Given the description of an element on the screen output the (x, y) to click on. 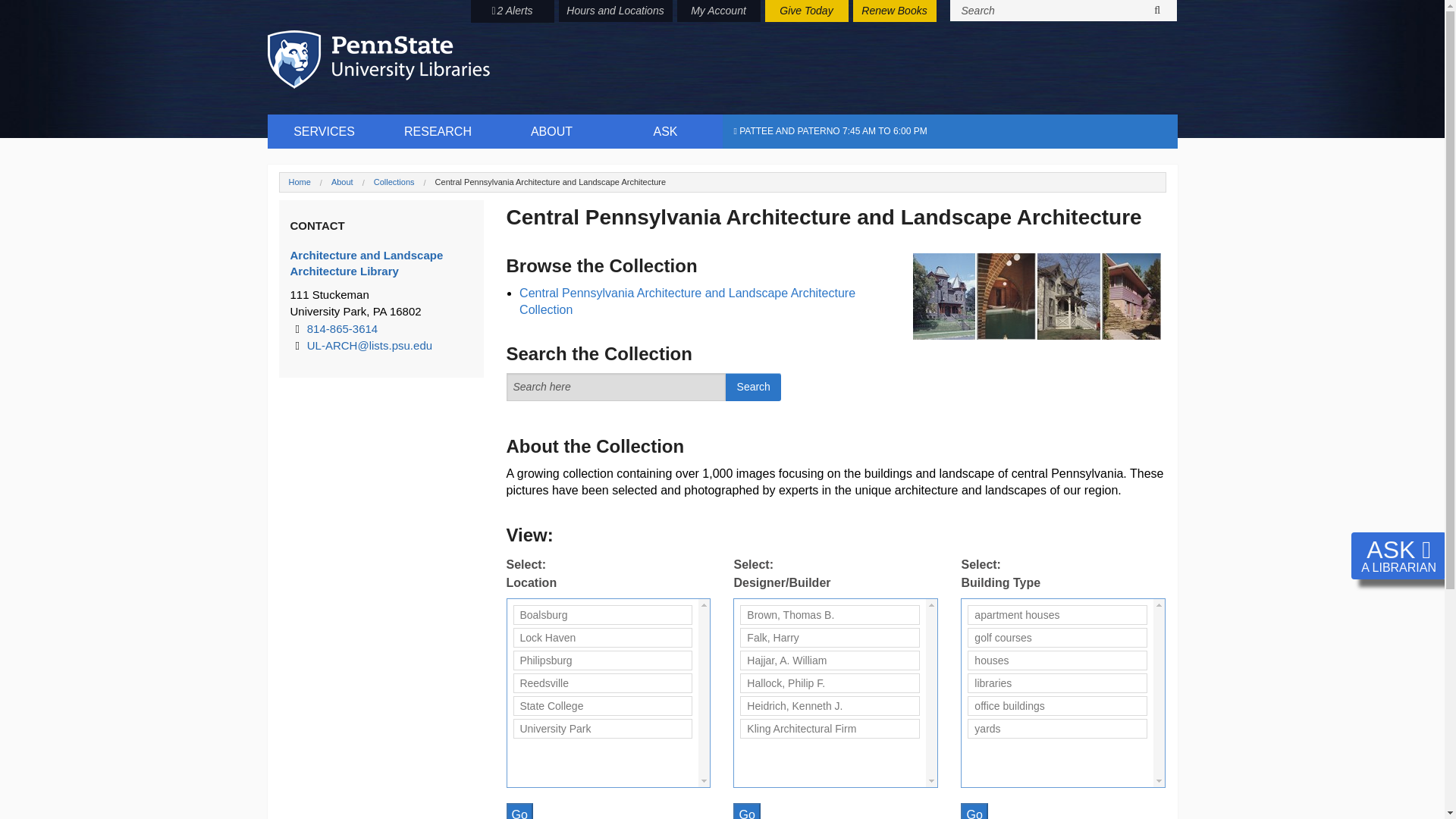
Renew Books (893, 11)
My Account (718, 11)
Central Pennsylvania Architecture and Landscape Architecture (550, 181)
814-865-3614 (342, 328)
ASK (665, 131)
Give Today (805, 11)
Search (752, 387)
Penn State University Libraries (377, 59)
enter search terms (616, 387)
Go (973, 811)
Submit (1157, 10)
Home (299, 181)
PATTEE AND PATERNO 7:45 AM TO 6:00 PM (949, 131)
ABOUT (551, 131)
RESEARCH (437, 131)
